Given the description of an element on the screen output the (x, y) to click on. 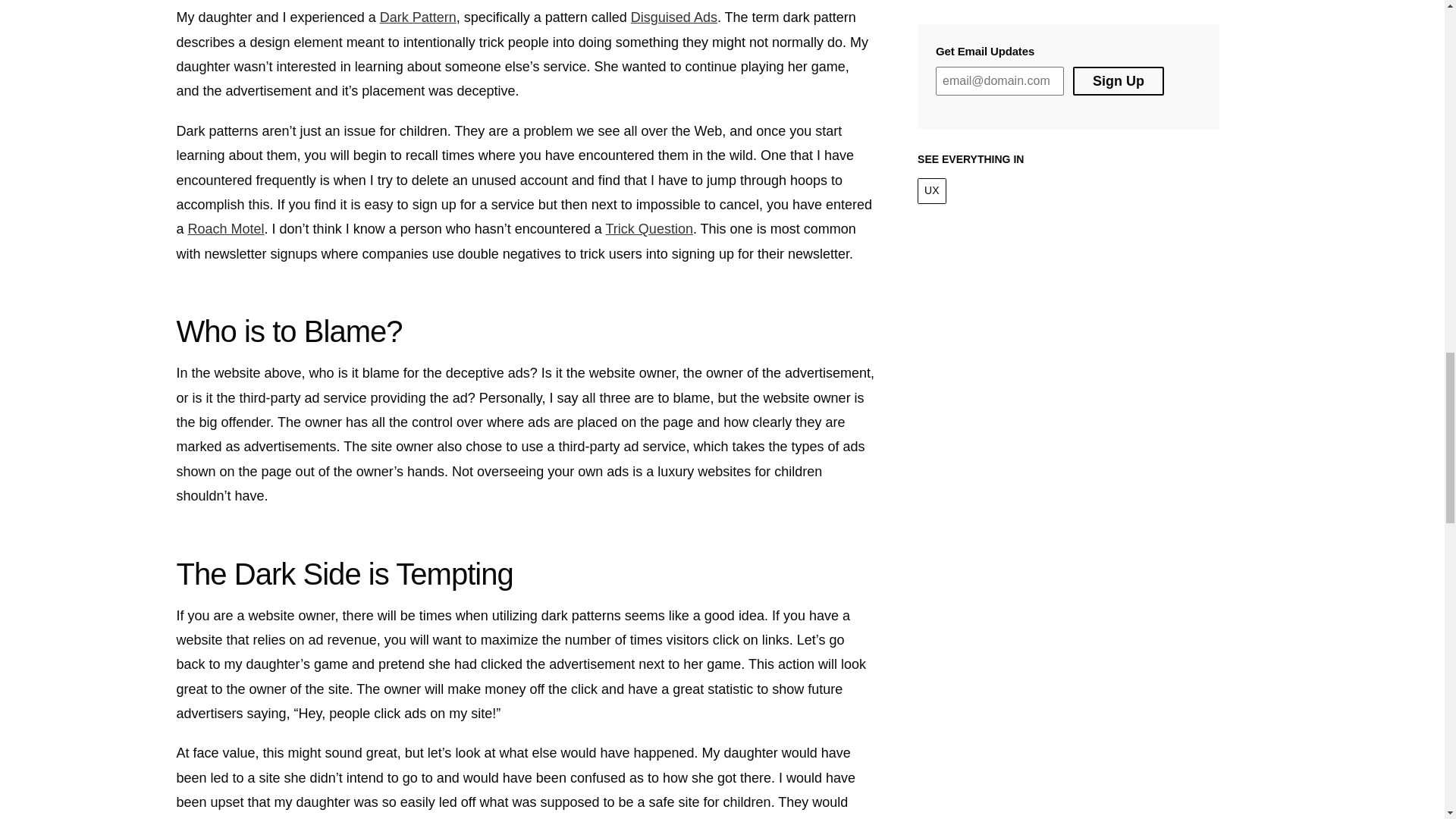
Roach Motel (225, 228)
Dark Pattern (418, 17)
Trick Question (649, 228)
Disguised Ads (673, 17)
